Given the description of an element on the screen output the (x, y) to click on. 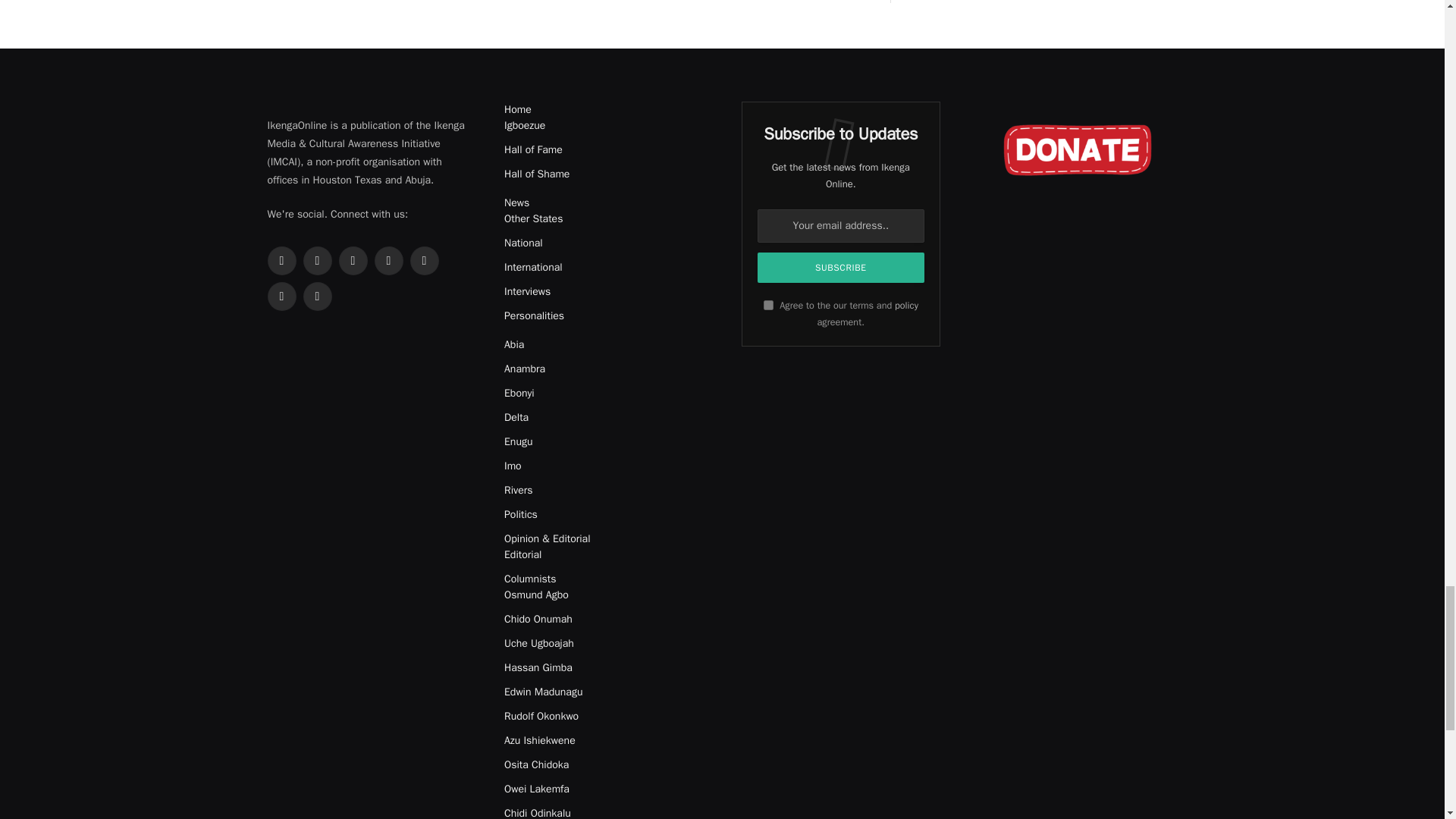
on (767, 305)
Subscribe (840, 267)
